Given the description of an element on the screen output the (x, y) to click on. 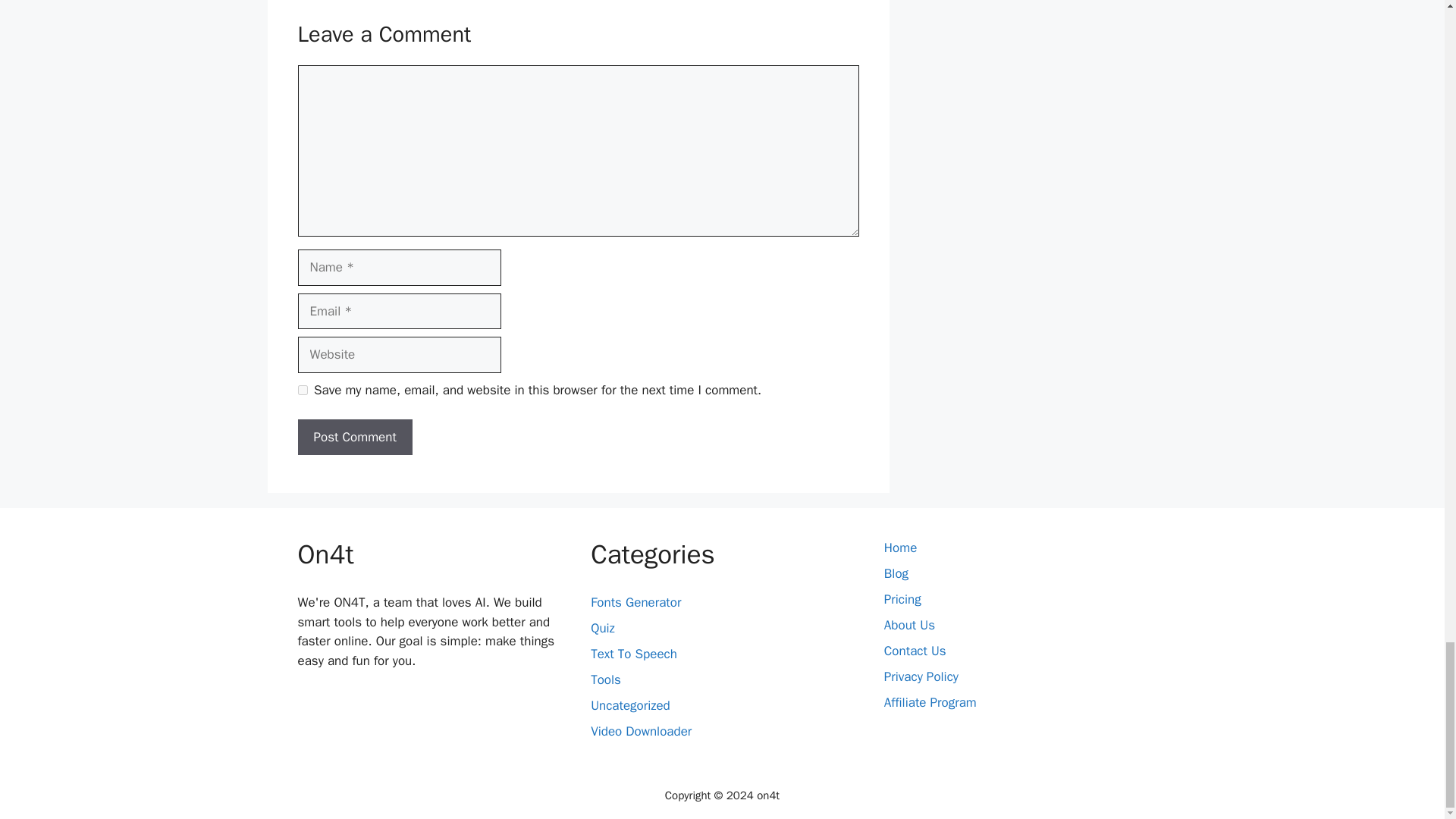
Post Comment (354, 437)
Post Comment (354, 437)
yes (302, 389)
